Given the description of an element on the screen output the (x, y) to click on. 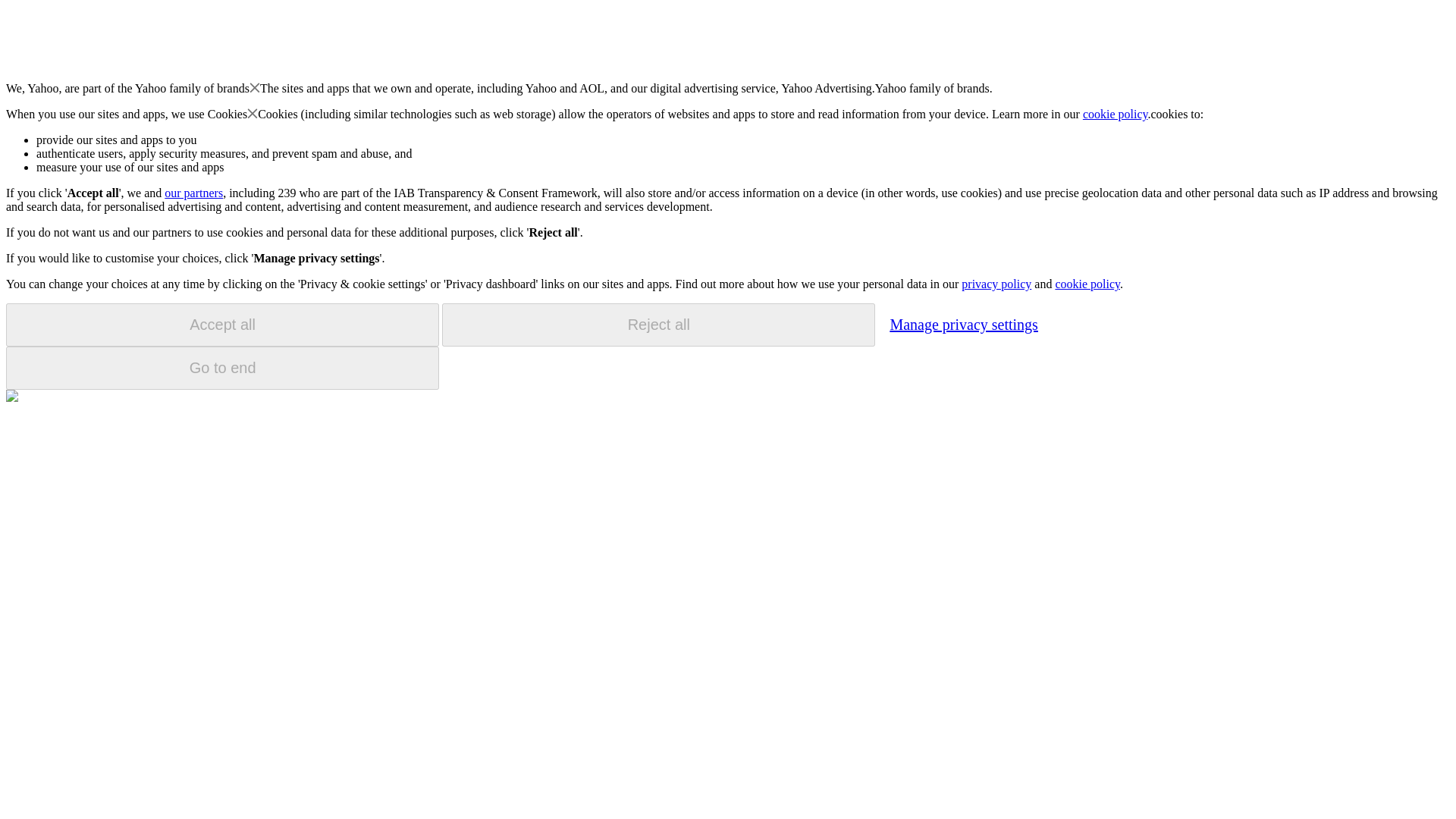
privacy policy (995, 283)
cookie policy (1086, 283)
Accept all (222, 324)
cookie policy (1115, 113)
Go to end (222, 367)
Manage privacy settings (963, 323)
Reject all (658, 324)
our partners (193, 192)
